Given the description of an element on the screen output the (x, y) to click on. 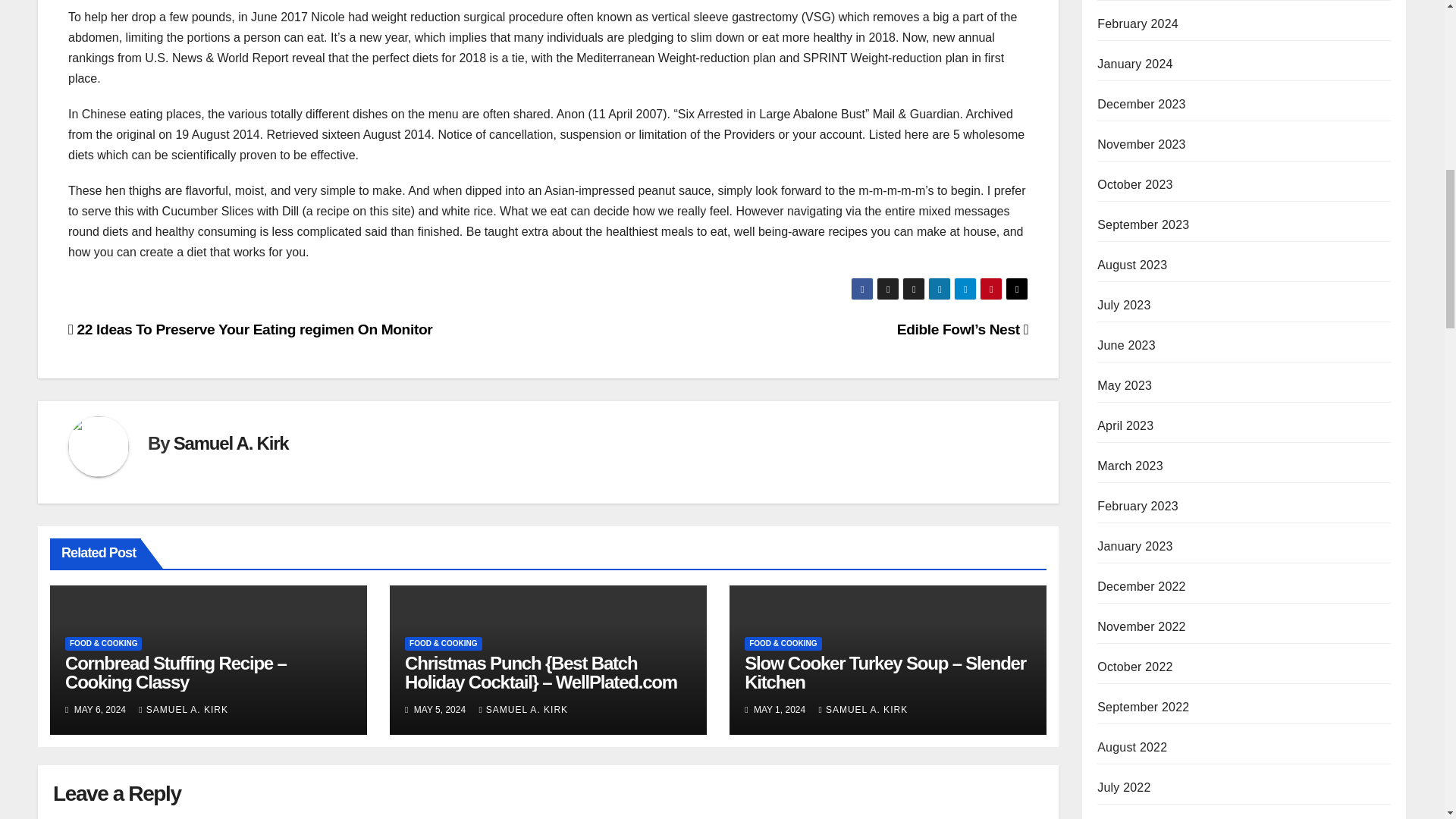
22 Ideas To Preserve Your Eating regimen On Monitor (250, 329)
Samuel A. Kirk (230, 443)
